Given the description of an element on the screen output the (x, y) to click on. 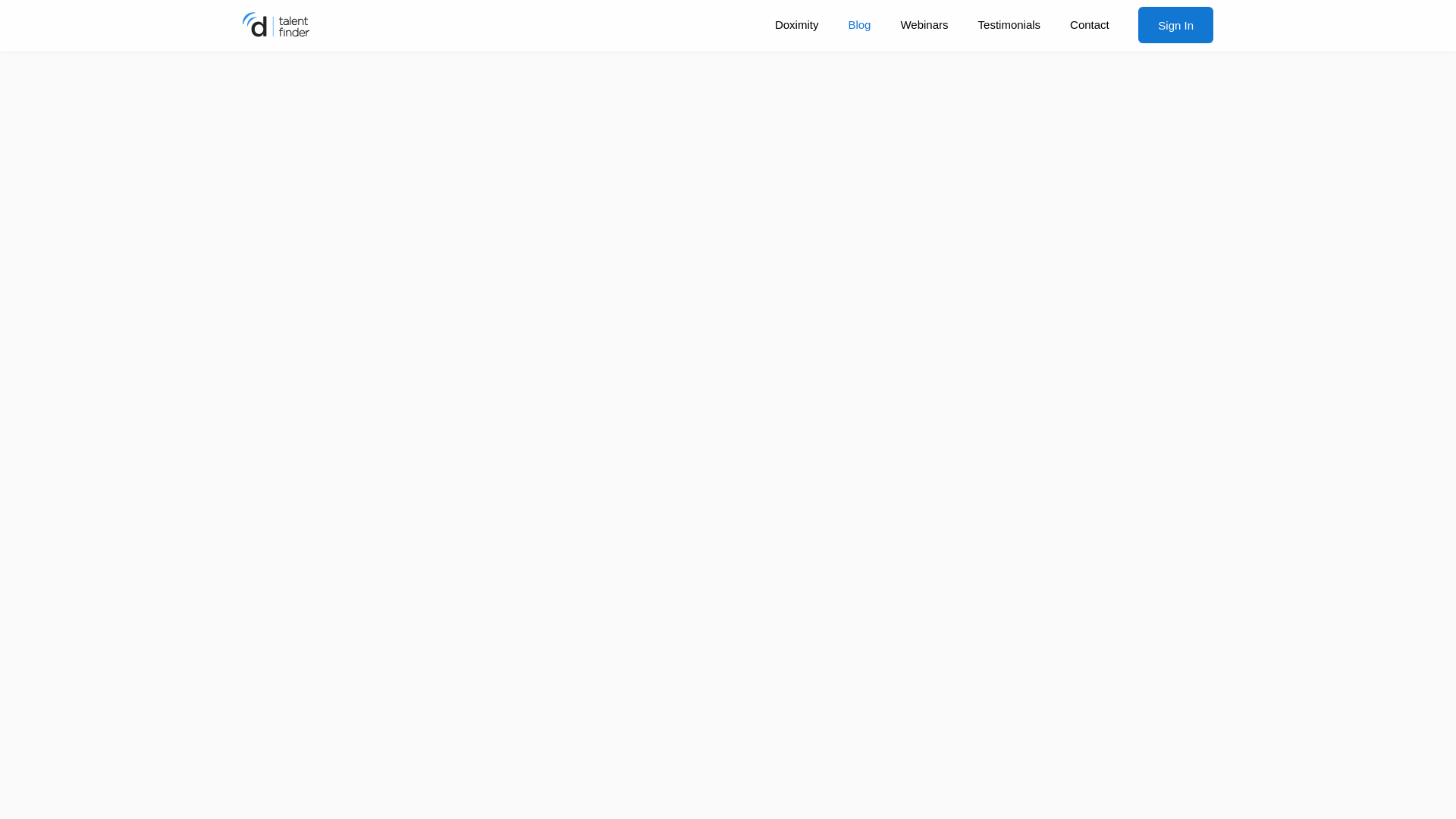
Webinars (923, 24)
Doximity (796, 24)
Blog (858, 24)
Contact (1089, 24)
Testimonials (1008, 24)
Sign In (1175, 24)
